Given the description of an element on the screen output the (x, y) to click on. 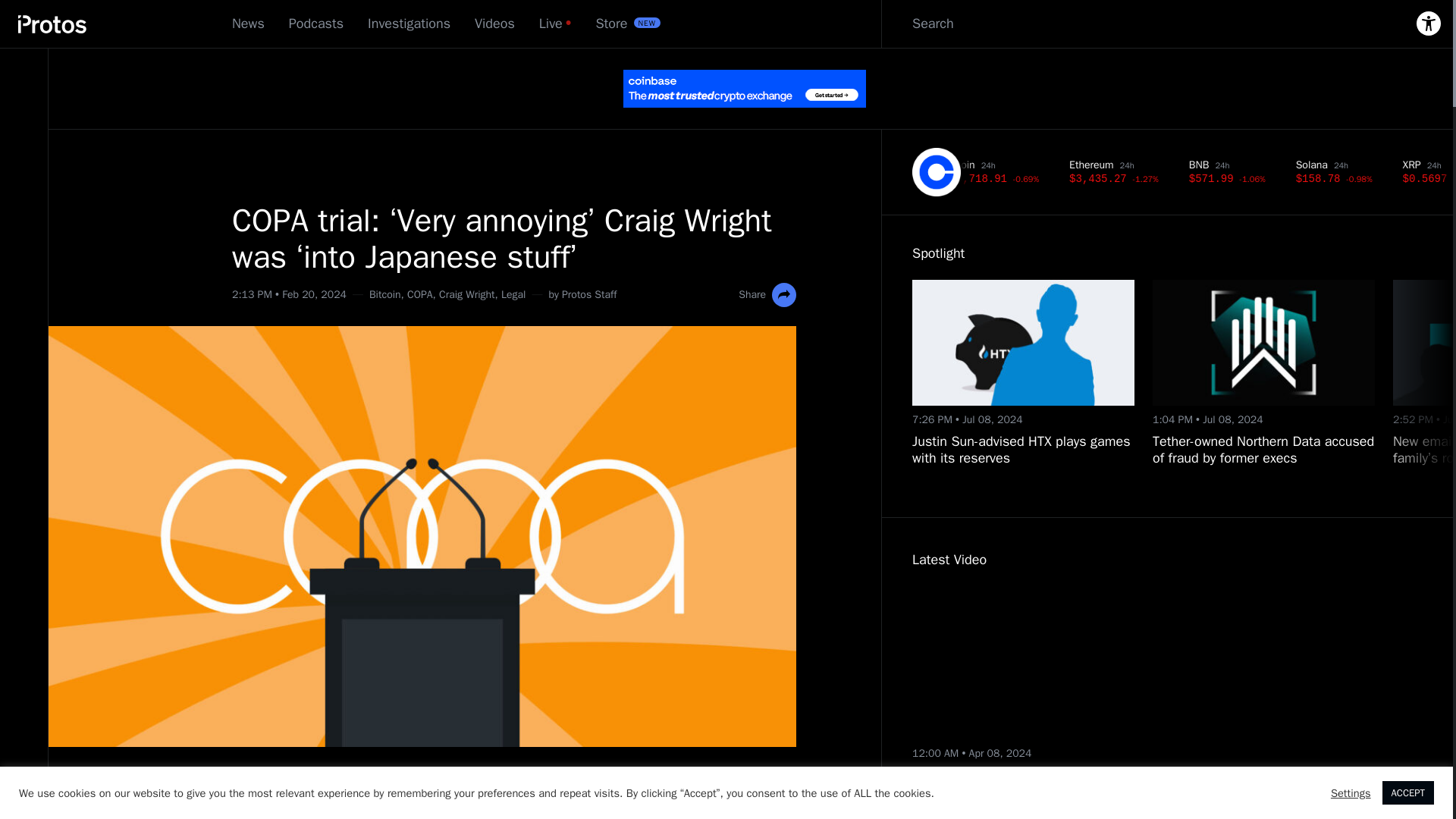
Podcasts (315, 23)
COPA (419, 294)
Protos Staff (588, 294)
Videos (494, 23)
Bitcoin (385, 294)
Investigations (408, 23)
Store (611, 23)
Legal (512, 294)
YouTube video player (1051, 662)
News (247, 23)
Craig Wright (467, 294)
Live (550, 23)
